Given the description of an element on the screen output the (x, y) to click on. 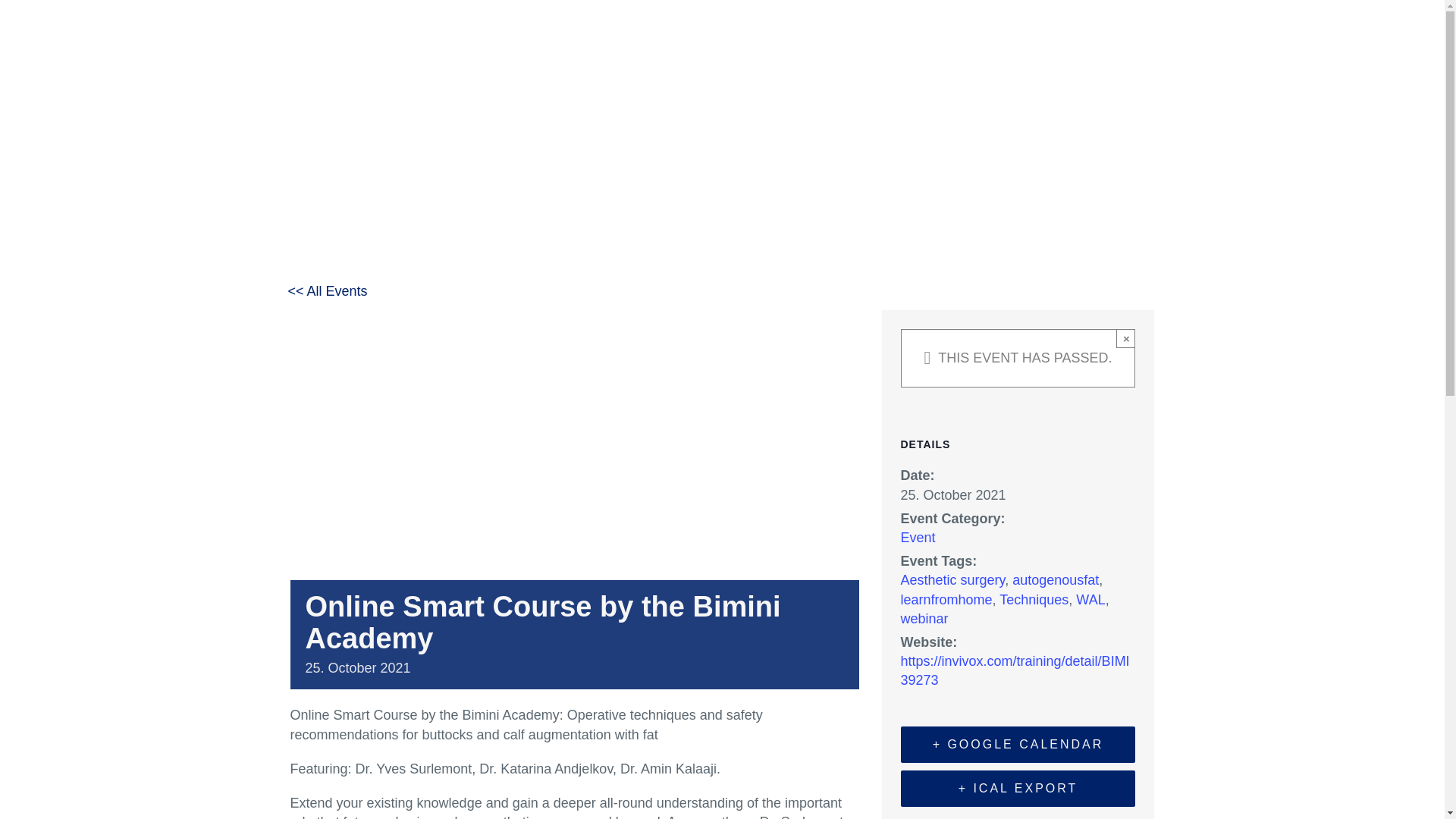
Download .ics file (1018, 788)
Add to Google Calendar (1018, 744)
2021-10-25 (953, 494)
